Given the description of an element on the screen output the (x, y) to click on. 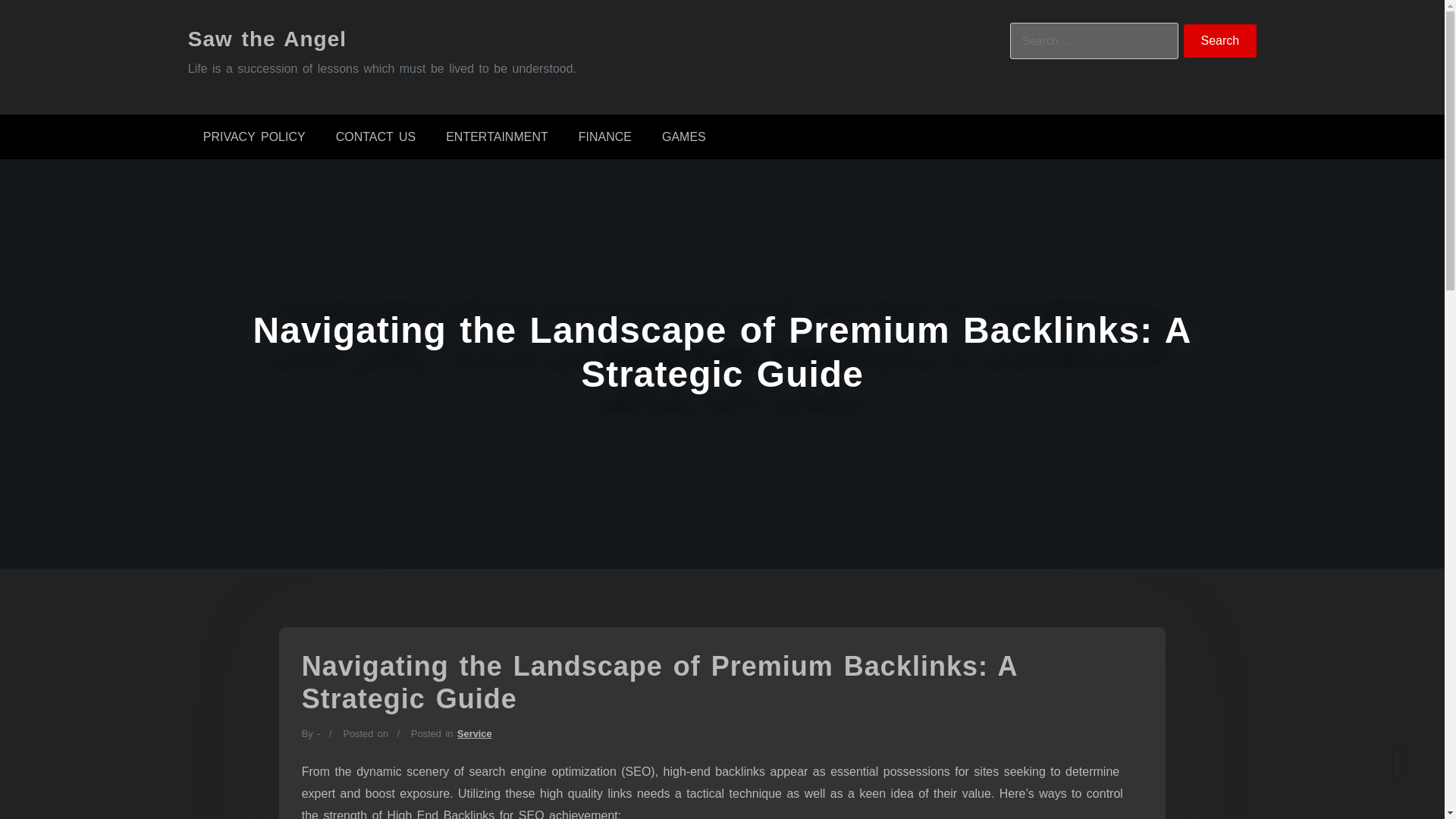
GAMES (683, 136)
PRIVACY POLICY (253, 136)
Search (1220, 40)
Search (1220, 40)
CONTACT US (375, 136)
Service (474, 733)
Search (1220, 40)
ENTERTAINMENT (496, 136)
FINANCE (604, 136)
Saw the Angel (266, 38)
